Given the description of an element on the screen output the (x, y) to click on. 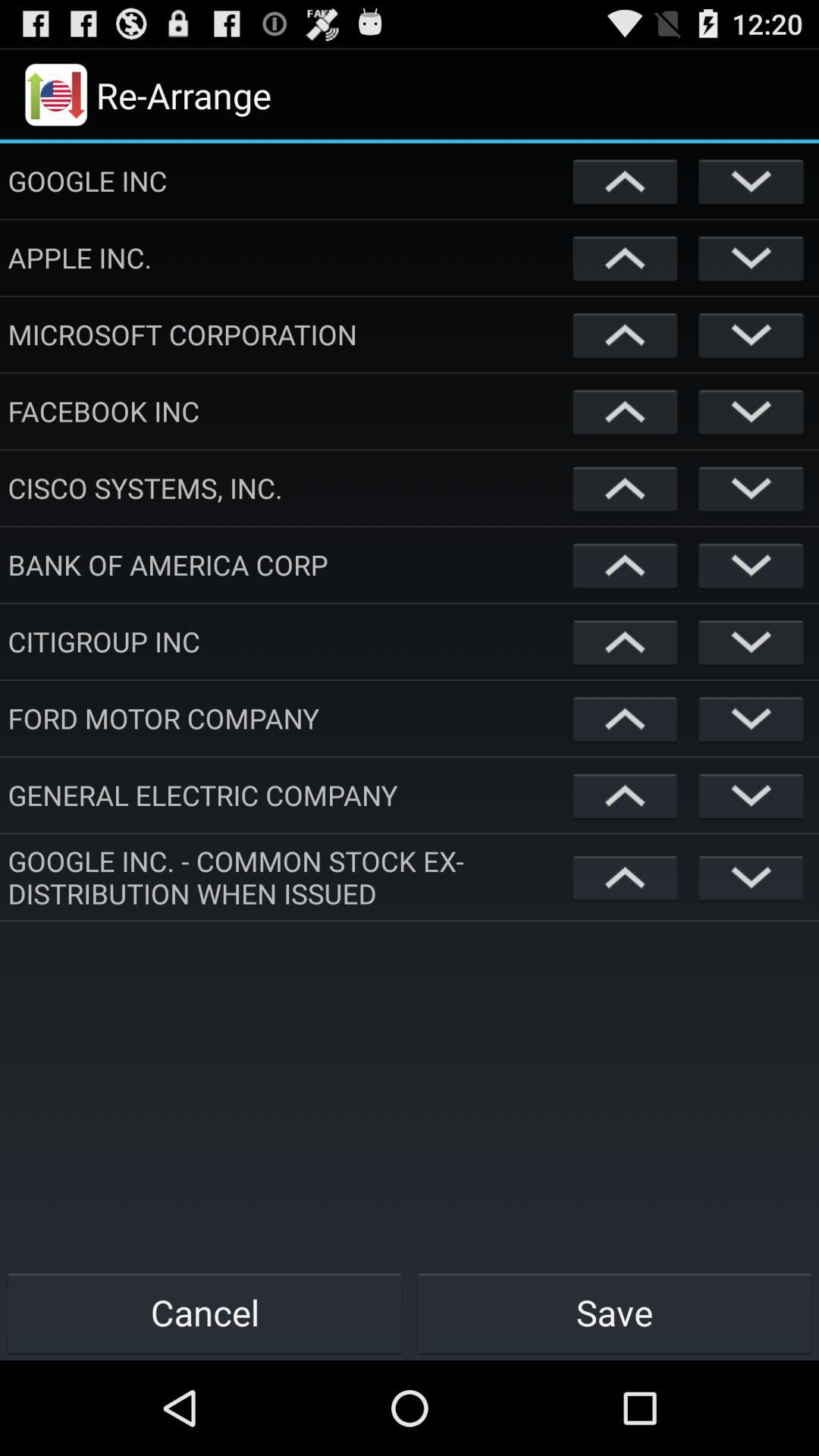
scroll until save icon (614, 1312)
